Given the description of an element on the screen output the (x, y) to click on. 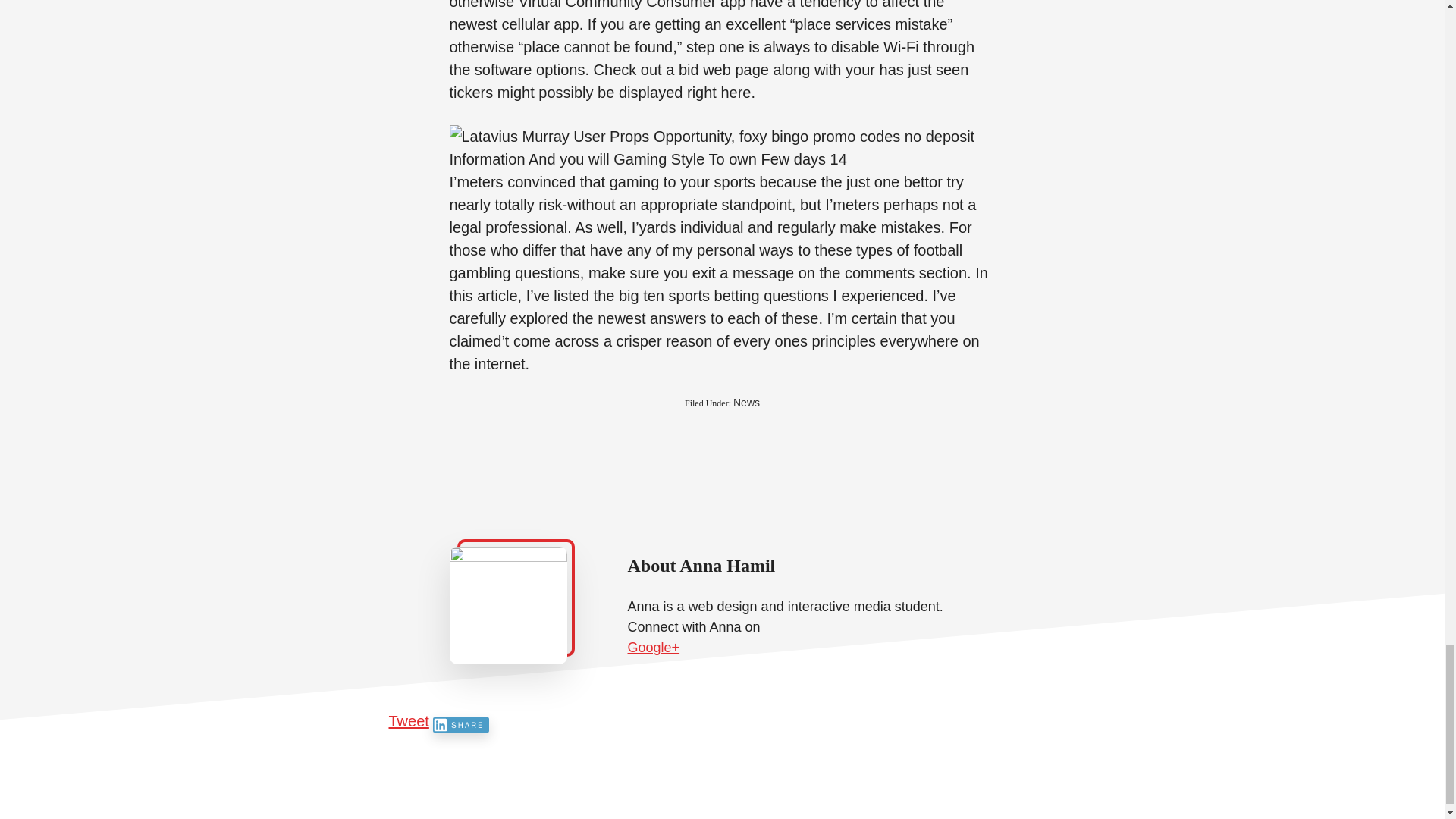
News (746, 402)
SHARE (460, 724)
Tweet (408, 720)
